Given the description of an element on the screen output the (x, y) to click on. 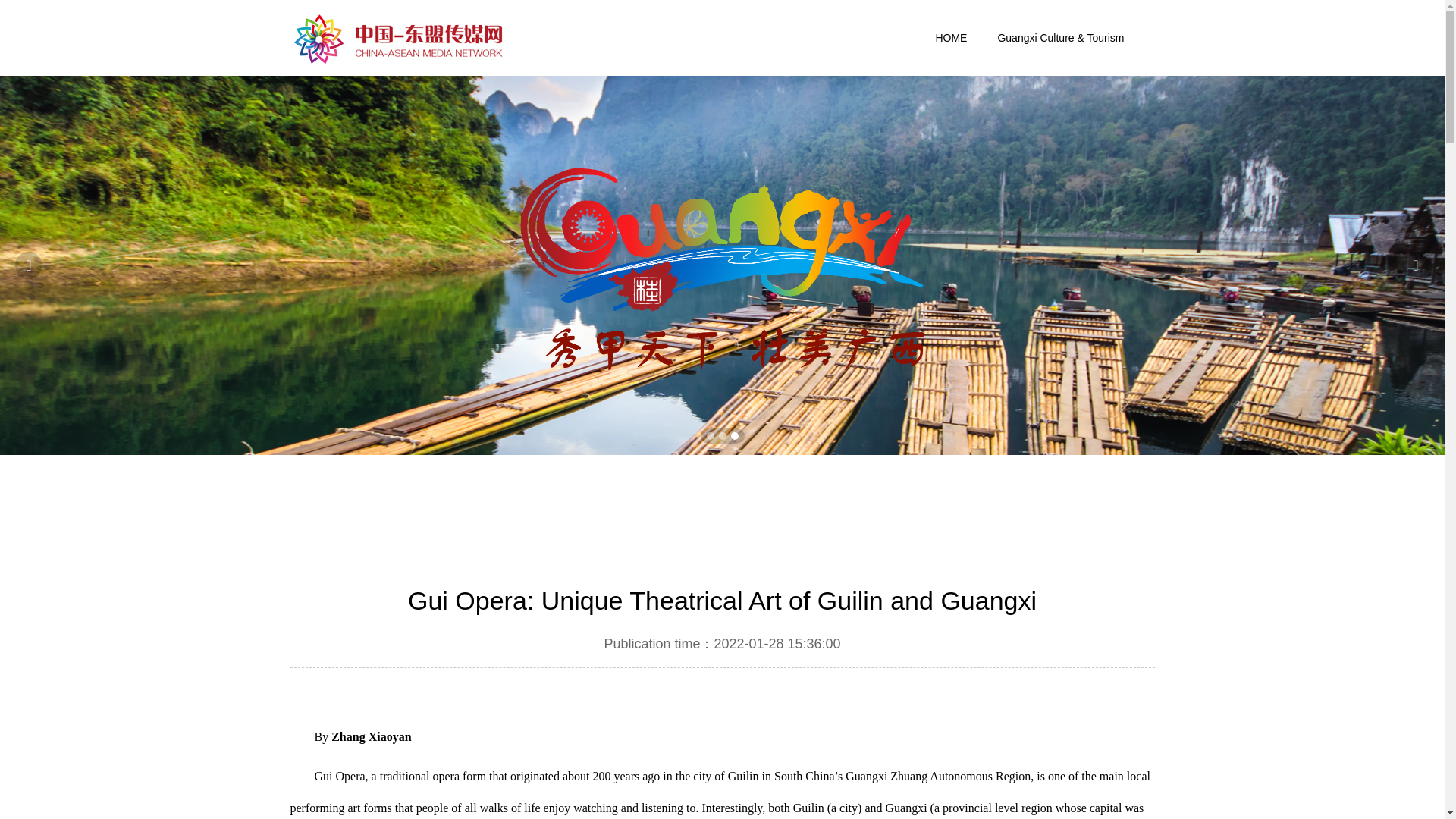
HOME (950, 38)
